Given the description of an element on the screen output the (x, y) to click on. 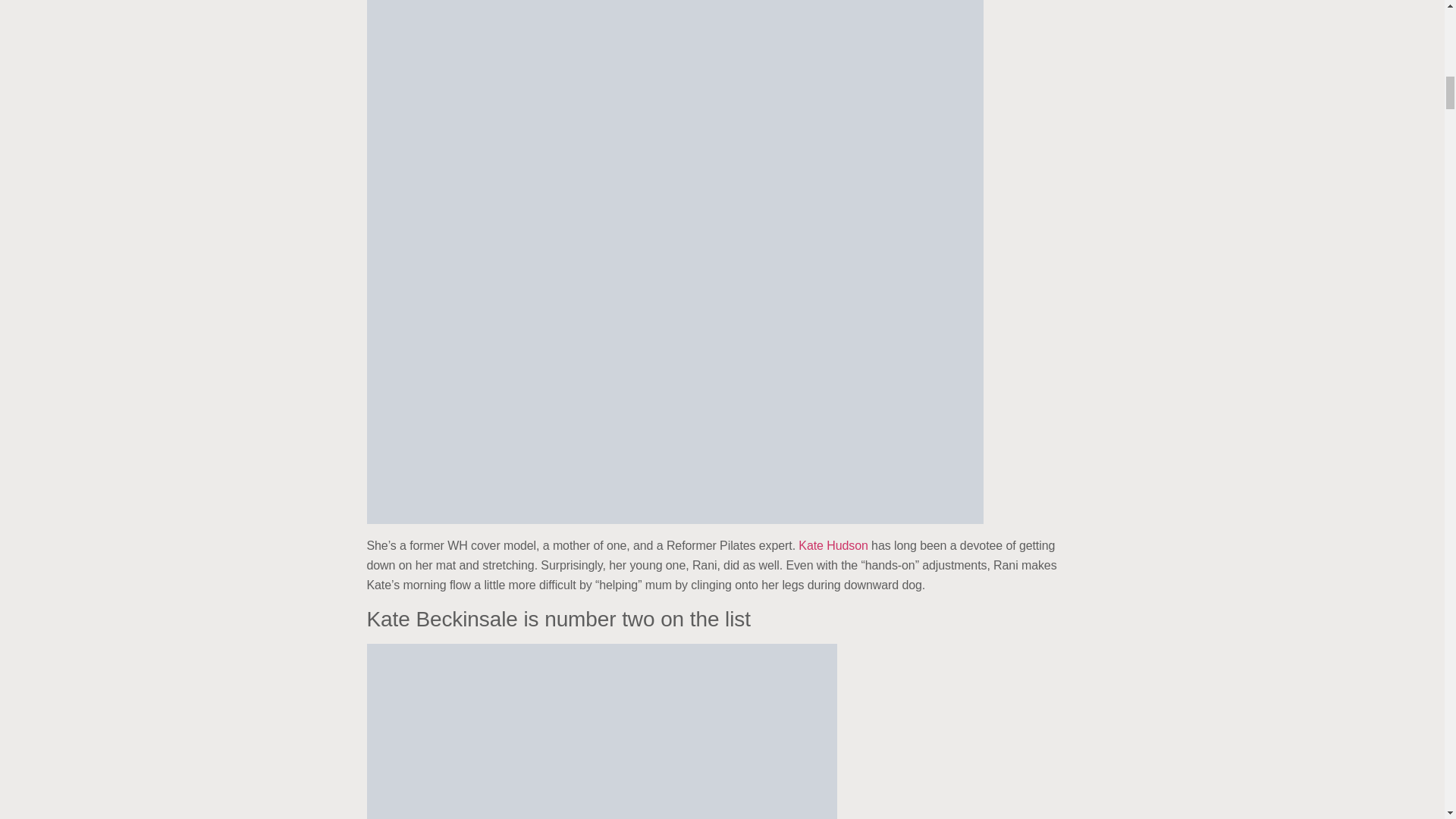
Kate Hudson (832, 545)
